Given the description of an element on the screen output the (x, y) to click on. 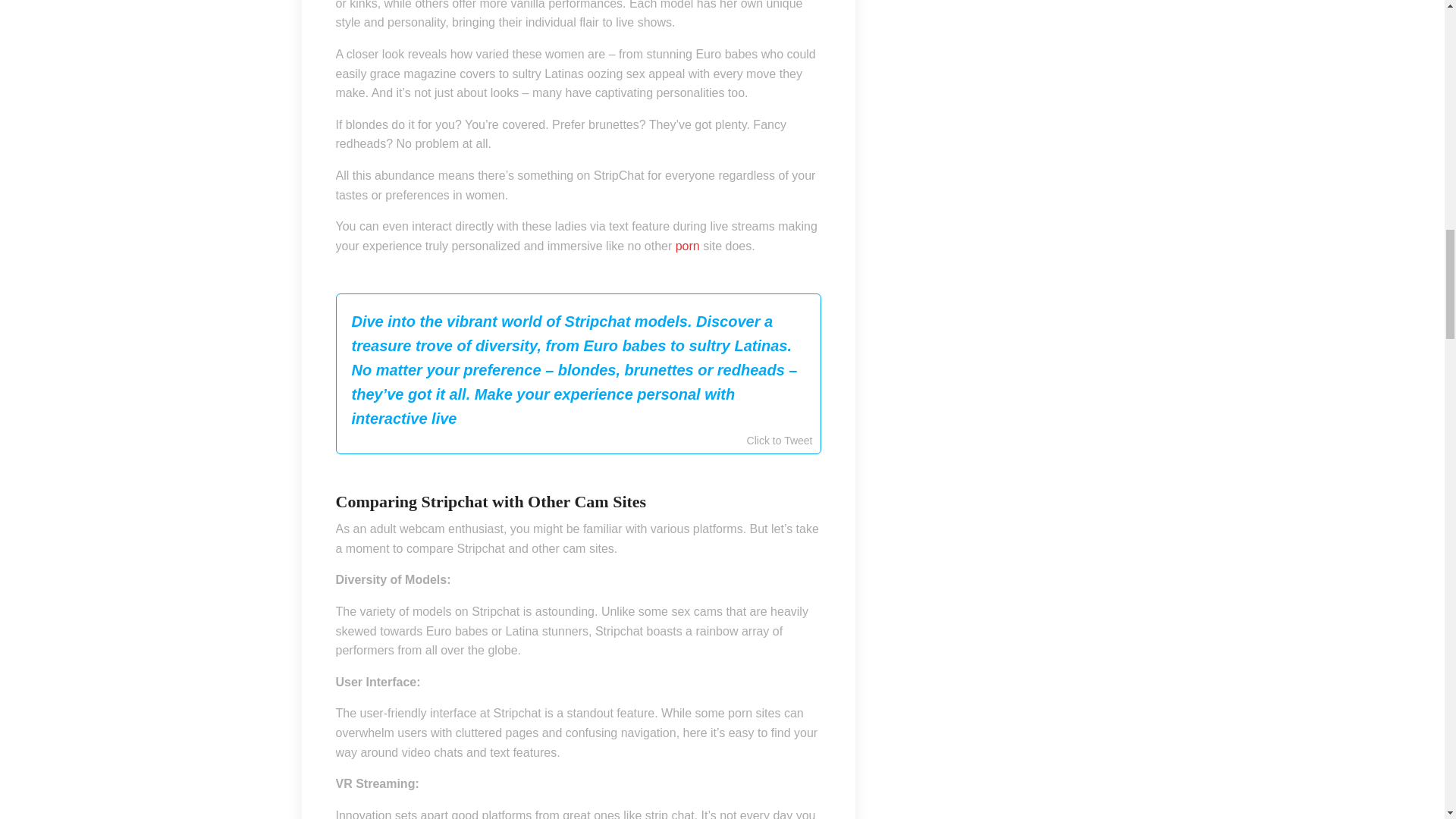
porn (687, 245)
